Given the description of an element on the screen output the (x, y) to click on. 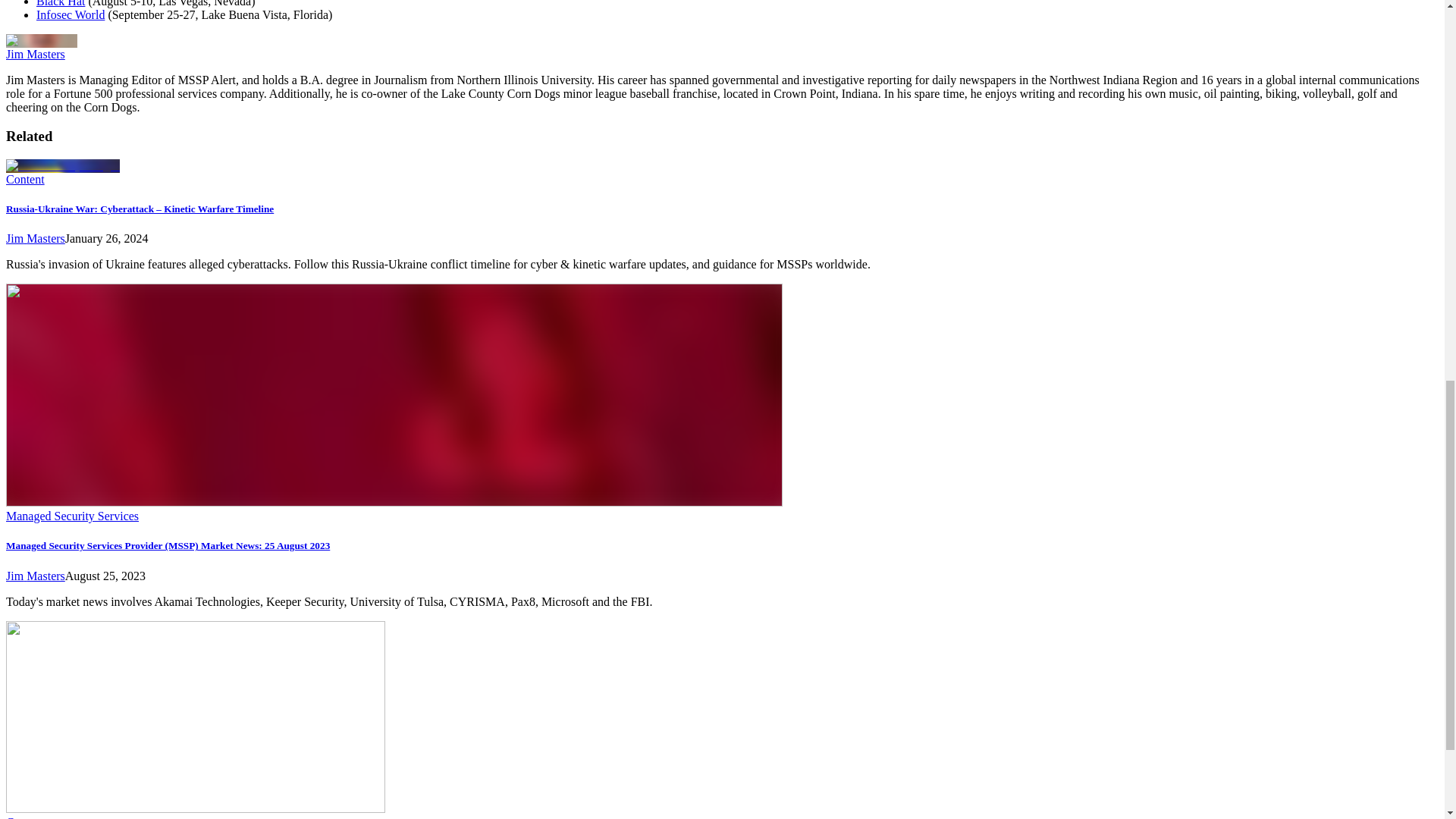
Infosec World (70, 13)
Black Hat (60, 3)
Jim Masters (35, 52)
Content (25, 178)
Jim Masters (35, 237)
